Given the description of an element on the screen output the (x, y) to click on. 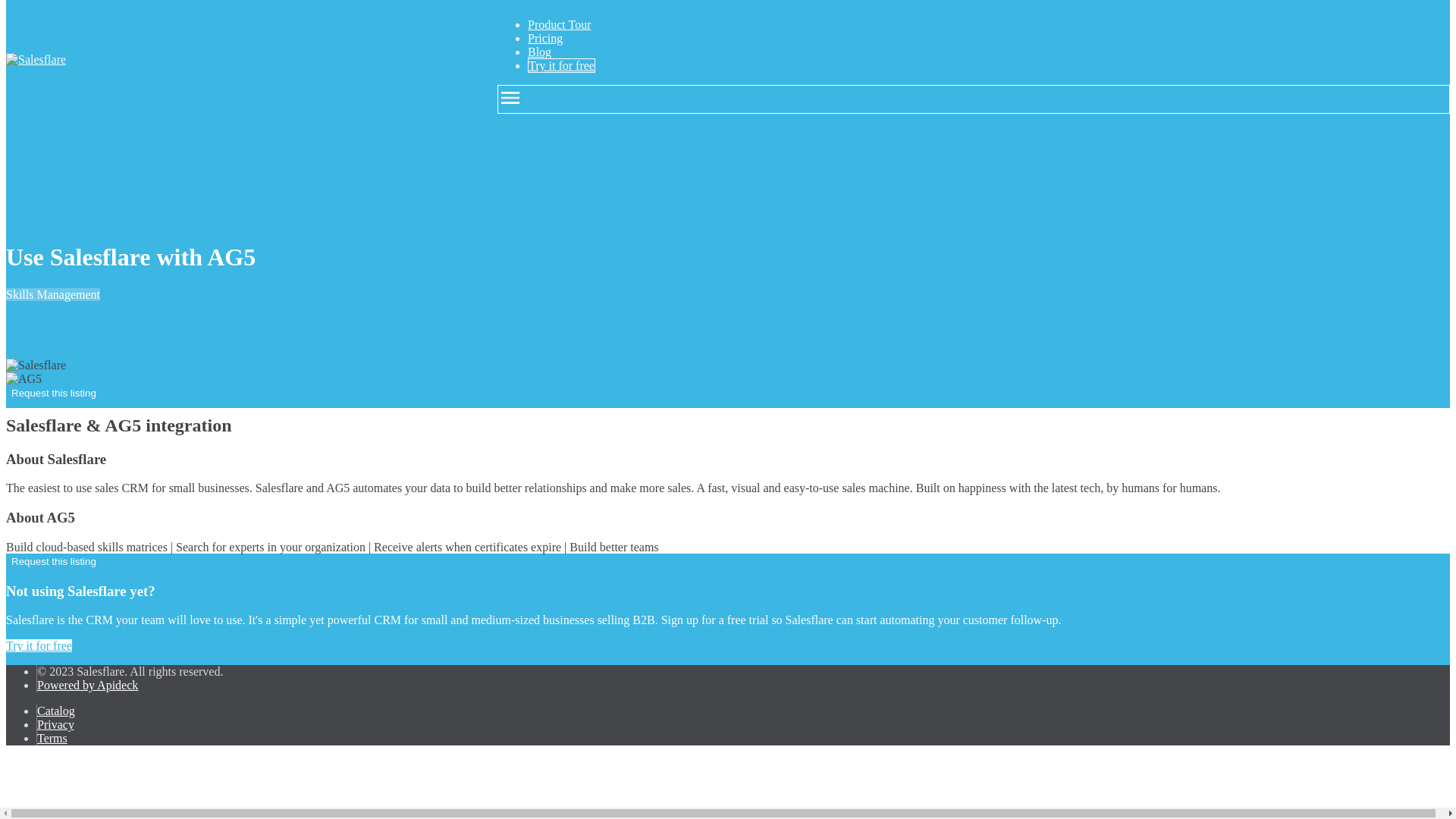
Try it for free (38, 645)
Salesflare (35, 365)
Request this listing (53, 561)
Privacy (55, 724)
Request this listing (53, 392)
Powered by Apideck (87, 684)
Pricing (544, 38)
Salesflare (35, 59)
AG5 (23, 378)
Try it for free (561, 65)
